Given the description of an element on the screen output the (x, y) to click on. 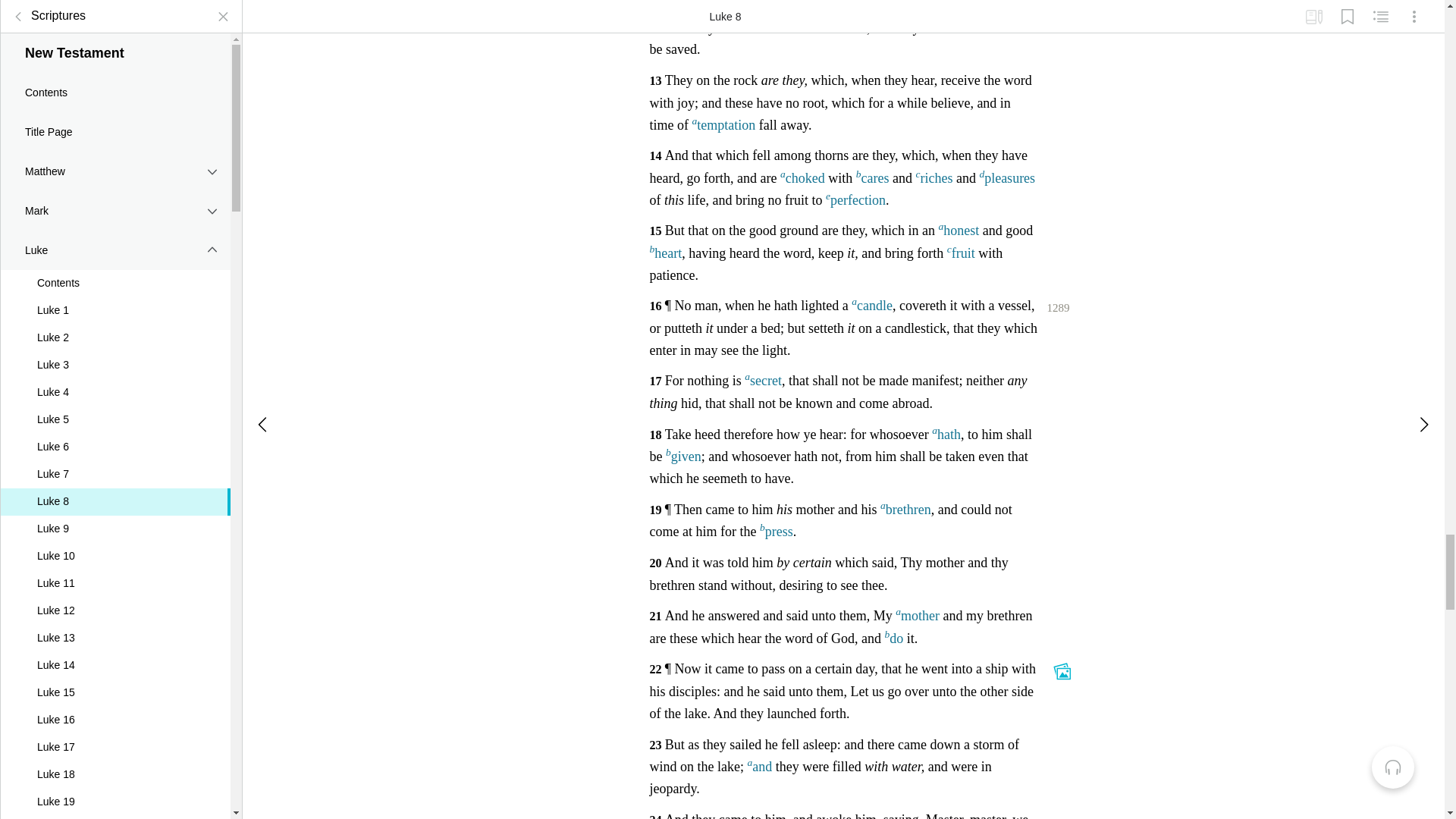
Galatians (115, 338)
Luke 21 (115, 26)
Luke 20 (115, 6)
Philippians (115, 417)
Acts (115, 180)
Luke 22 (115, 53)
Ephesians (115, 378)
Luke 24 (115, 108)
Luke 23 (115, 81)
John (115, 141)
1 Corinthians (115, 260)
2 Corinthians (115, 299)
Romans (115, 220)
